Given the description of an element on the screen output the (x, y) to click on. 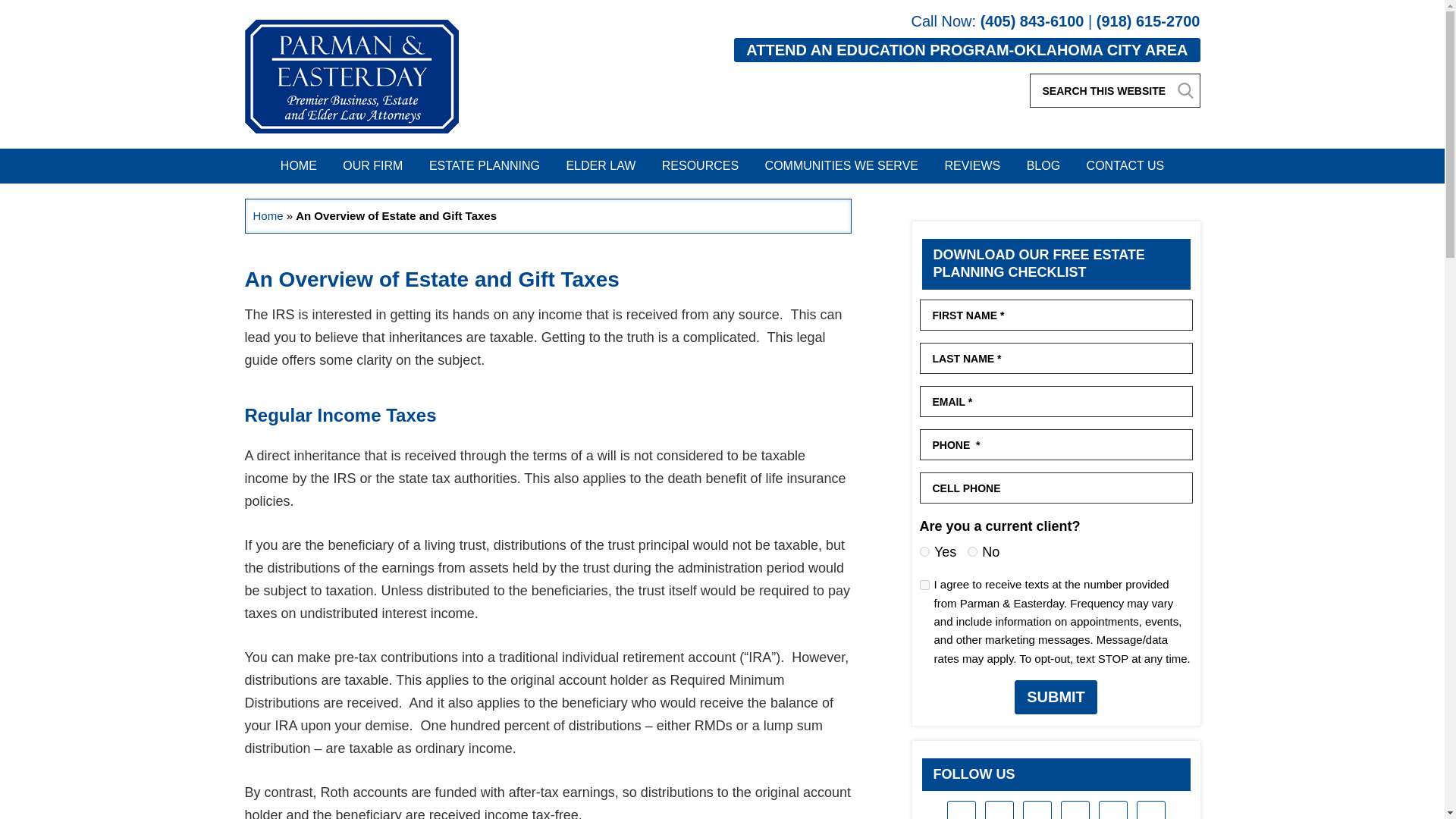
1184 (923, 551)
1188 (923, 584)
Search (1184, 90)
1186 (972, 551)
HOME (299, 165)
OUR FIRM (372, 165)
ELDER LAW (600, 165)
Search (1184, 90)
ATTEND AN EDUCATION PROGRAM-OKLAHOMA CITY AREA (966, 49)
